Given the description of an element on the screen output the (x, y) to click on. 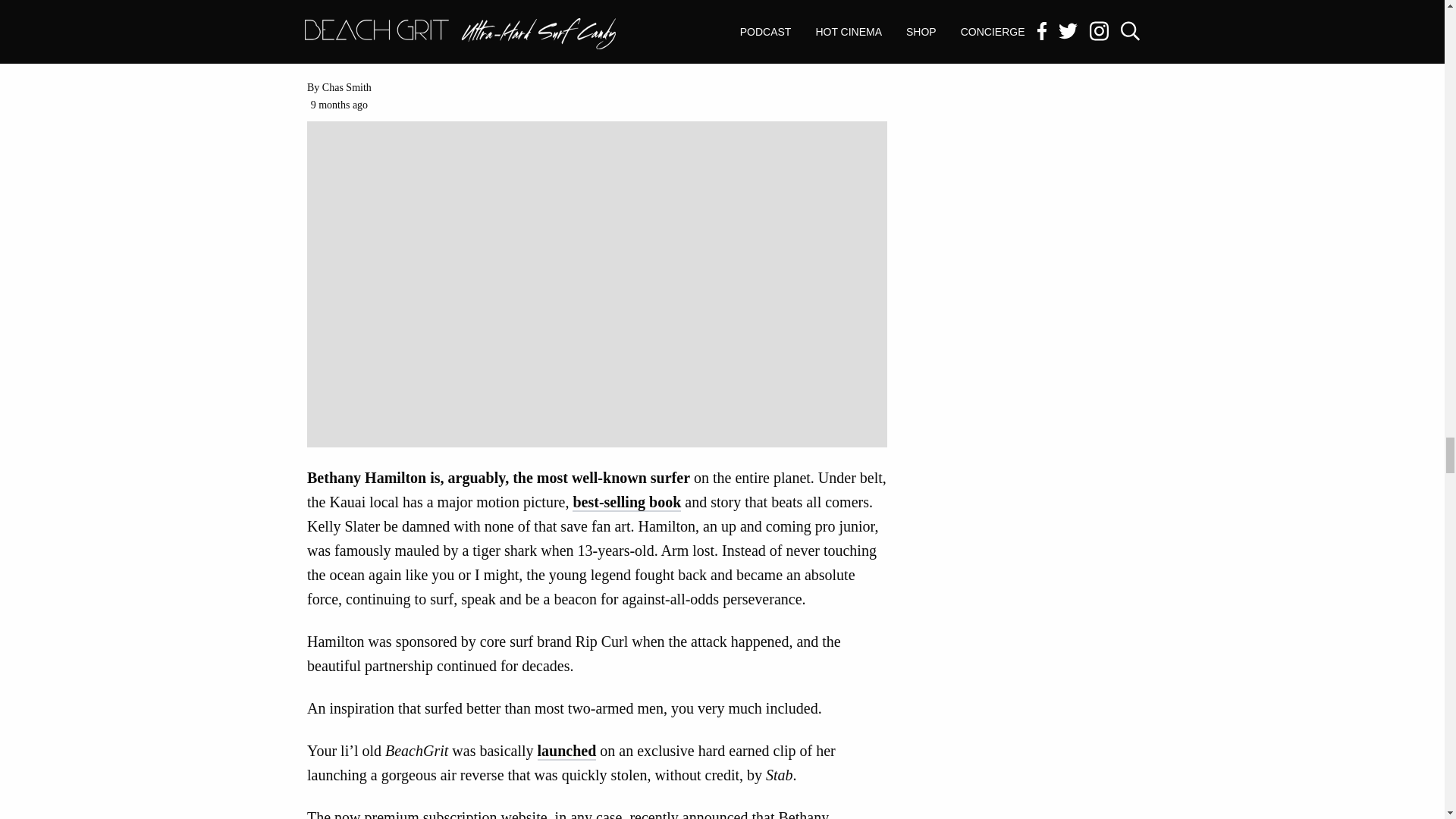
Chas Smith (346, 87)
launched (566, 751)
best-selling book (626, 502)
